Given the description of an element on the screen output the (x, y) to click on. 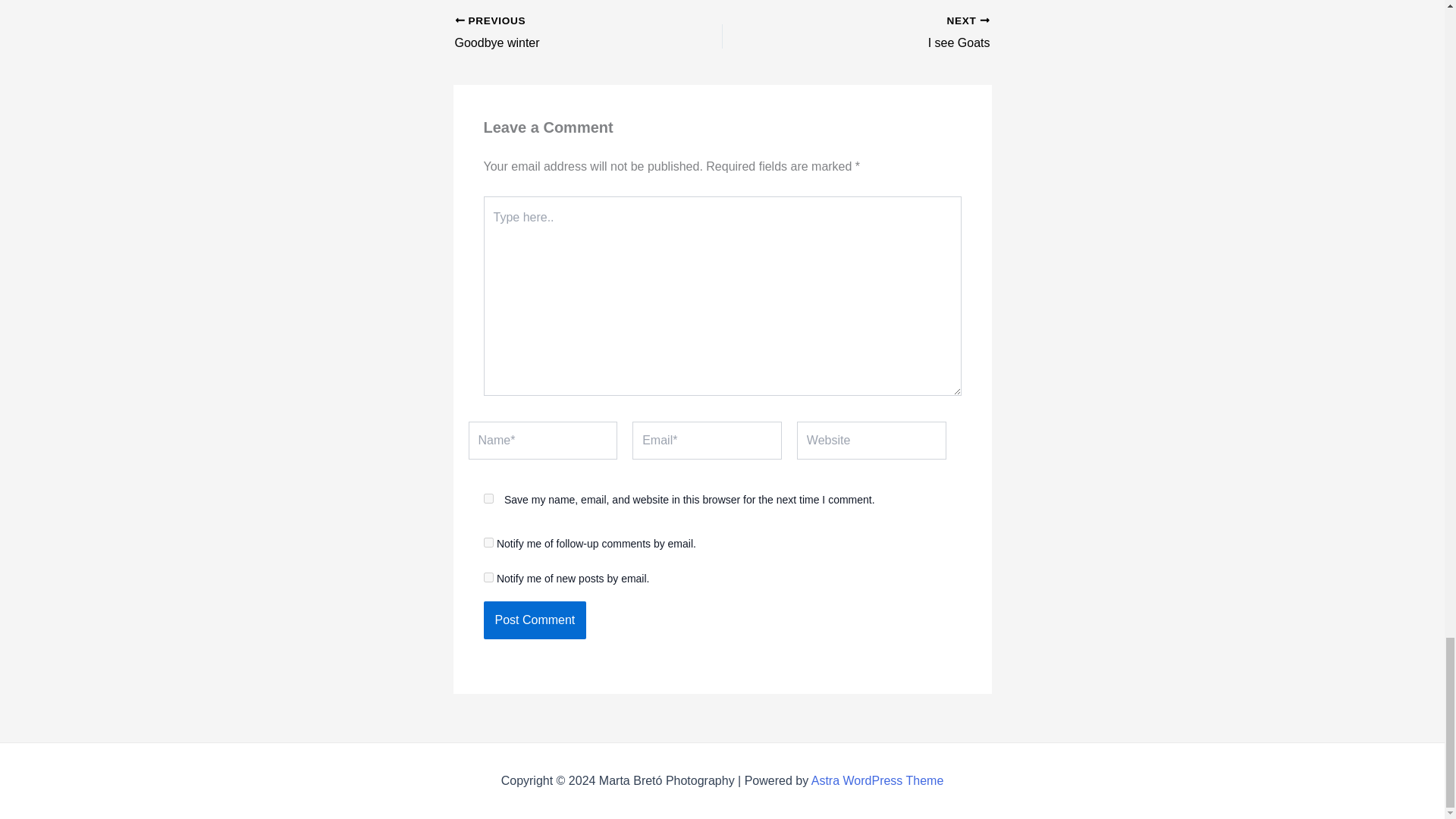
yes (488, 498)
Post Comment (534, 620)
I see Goats (882, 33)
Astra WordPress Theme (561, 33)
Post Comment (876, 780)
subscribe (534, 620)
Goodbye winter (882, 33)
subscribe (488, 577)
